Given the description of an element on the screen output the (x, y) to click on. 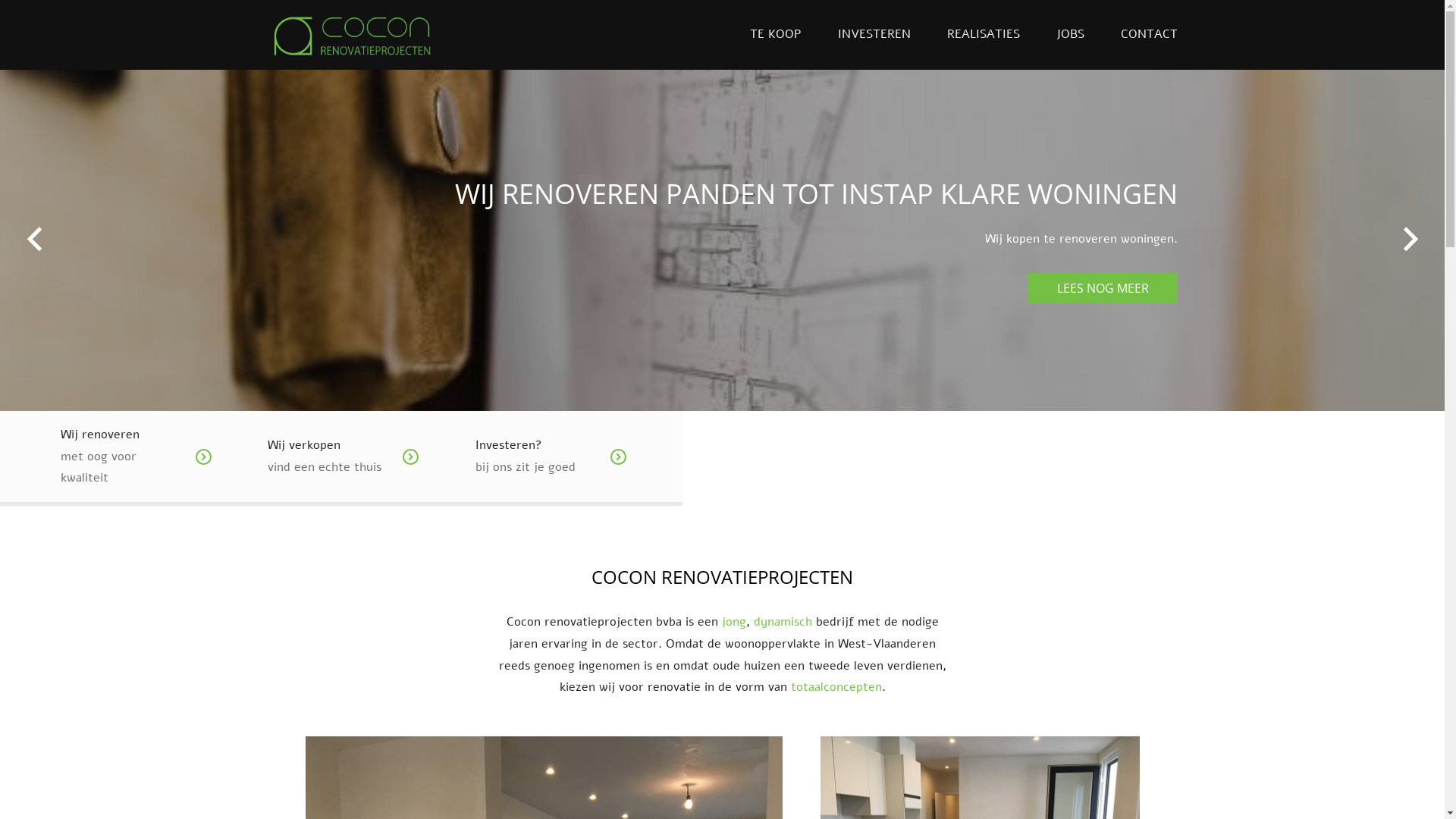
Vorige Element type: text (34, 240)
INVESTEREN Element type: text (873, 34)
Wij renoveren
met oog voor kwaliteit Element type: text (157, 451)
Investeren?
bij ons zit je goed Element type: text (571, 451)
Volgende Element type: text (1410, 240)
TE KOOP Element type: text (774, 34)
CONTACT Element type: text (1148, 34)
LEES NOG MEER Element type: text (1102, 288)
REALISATIES Element type: text (982, 34)
Wij verkopen
vind een echte thuis Element type: text (364, 451)
JOBS Element type: text (1069, 34)
